Given the description of an element on the screen output the (x, y) to click on. 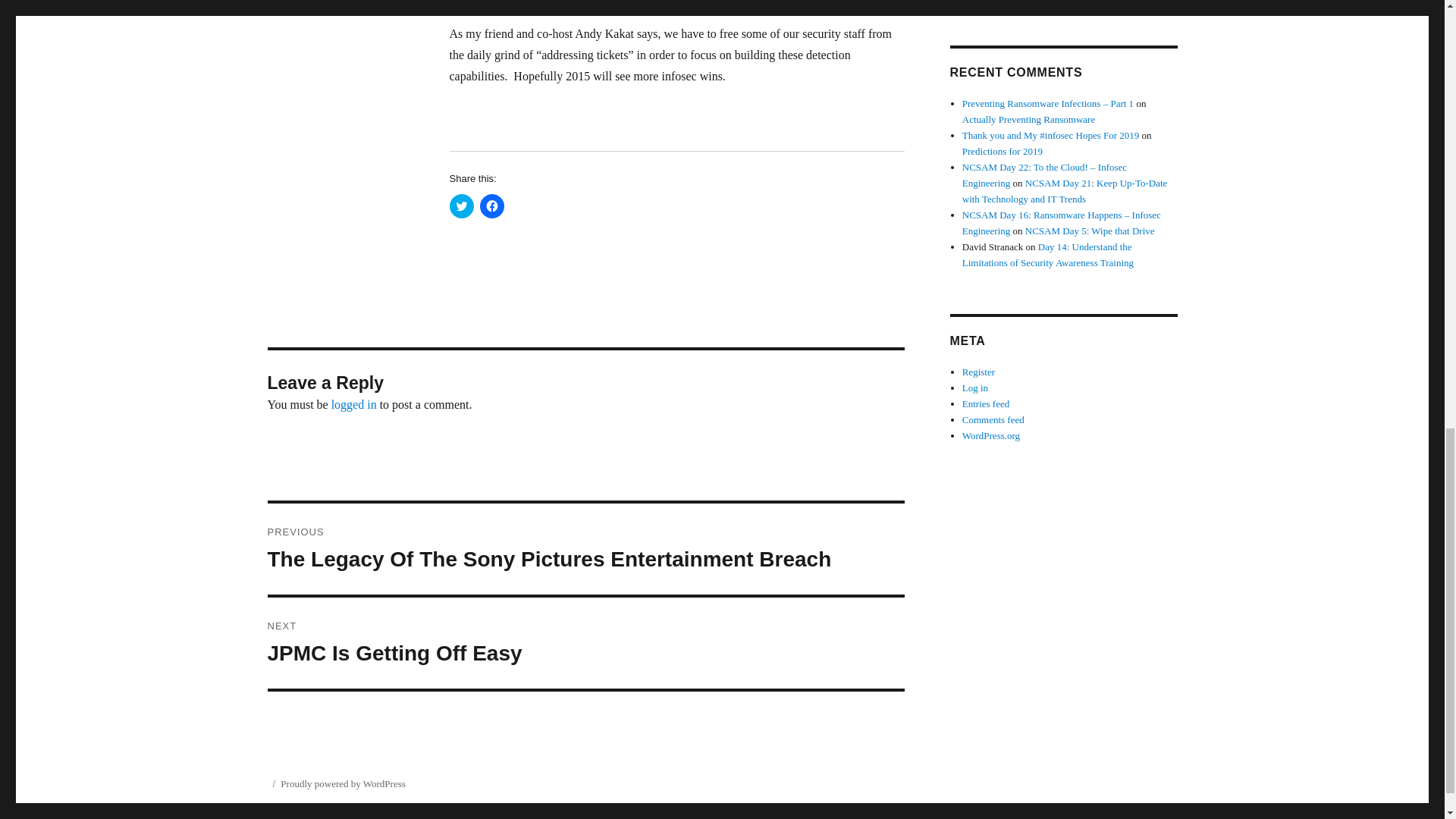
Click to share on Twitter (460, 206)
Predictions for 2019 (1002, 151)
NCSAM Day 21: Keep Up-To-Date with Technology and IT Trends (1064, 190)
logged in (585, 642)
Uncertainty (354, 404)
Click to share on Facebook (985, 0)
Actually Preventing Ransomware (491, 206)
